Given the description of an element on the screen output the (x, y) to click on. 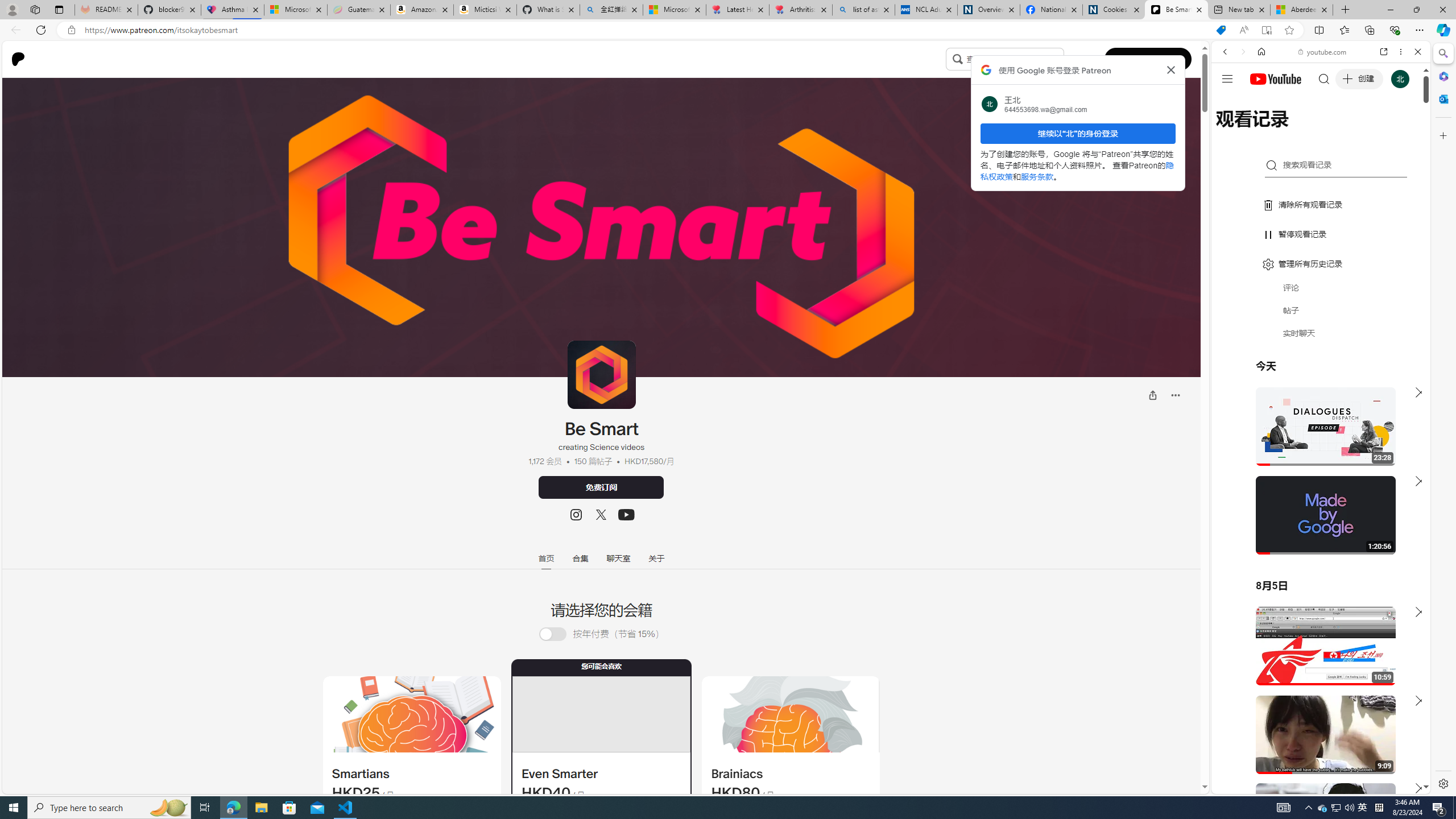
Class: sc-1a2jhmw-3 djwfLg (790, 713)
Class: sc-jrQzAO HeRcC sc-1b5vbhn-1 hqVCmM (625, 514)
Loading (552, 634)
US[ju] (1249, 785)
you (1315, 755)
